Given the description of an element on the screen output the (x, y) to click on. 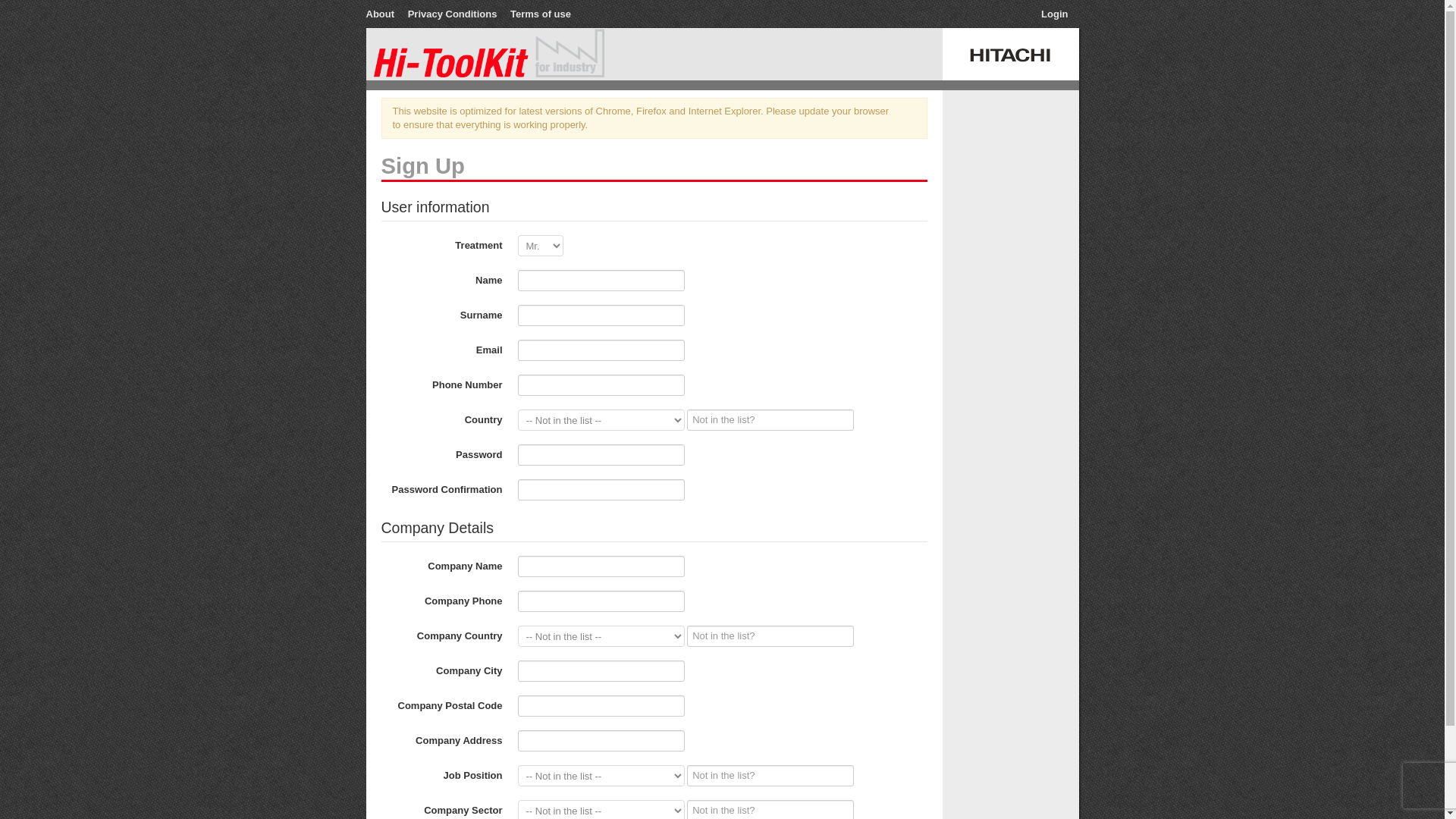
Privacy Conditions (453, 13)
Terms of use (540, 13)
About (380, 13)
Login (1054, 13)
